Given the description of an element on the screen output the (x, y) to click on. 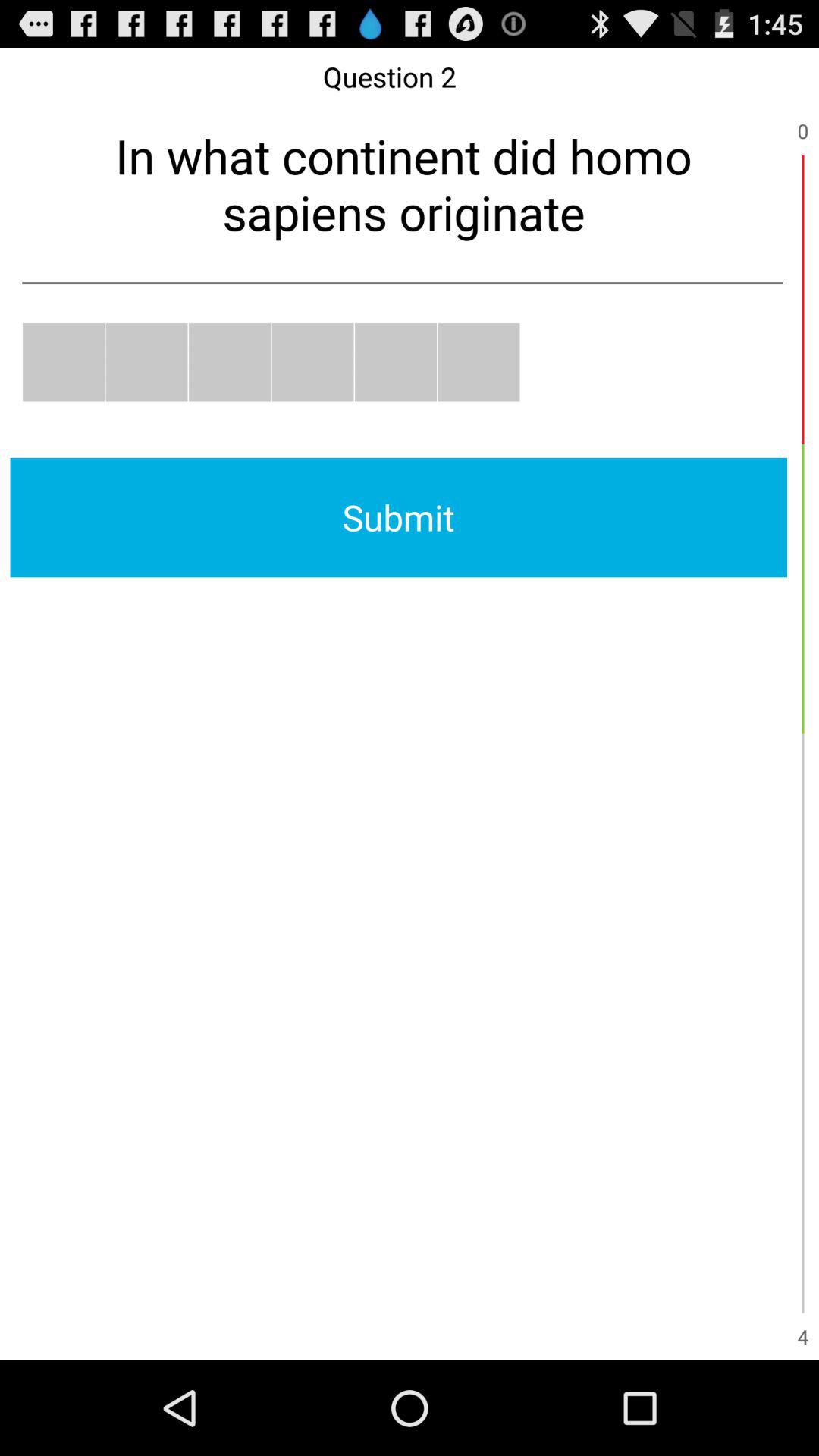
launch the item above the submit icon (395, 362)
